Given the description of an element on the screen output the (x, y) to click on. 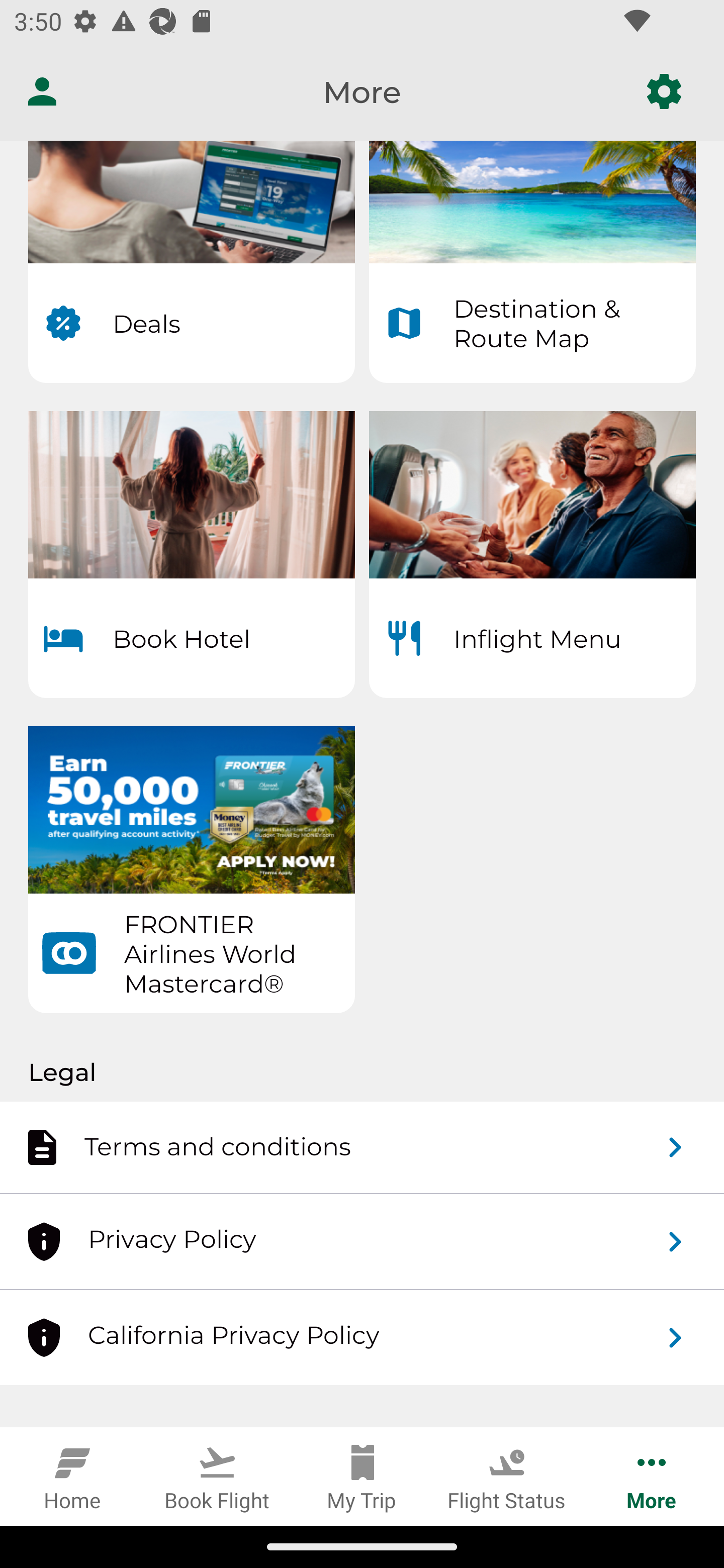
Deals (191, 261)
Destination &
Route Map (532, 261)
Book Hotel (191, 553)
Inflight Menu (532, 553)
FRONTIER Airlines World Mastercard® (191, 868)
Terms and conditions (362, 1147)
Privacy Policy (362, 1241)
California Privacy Policy (362, 1337)
Home (72, 1475)
Book Flight (216, 1475)
My Trip (361, 1475)
Flight Status (506, 1475)
